Given the description of an element on the screen output the (x, y) to click on. 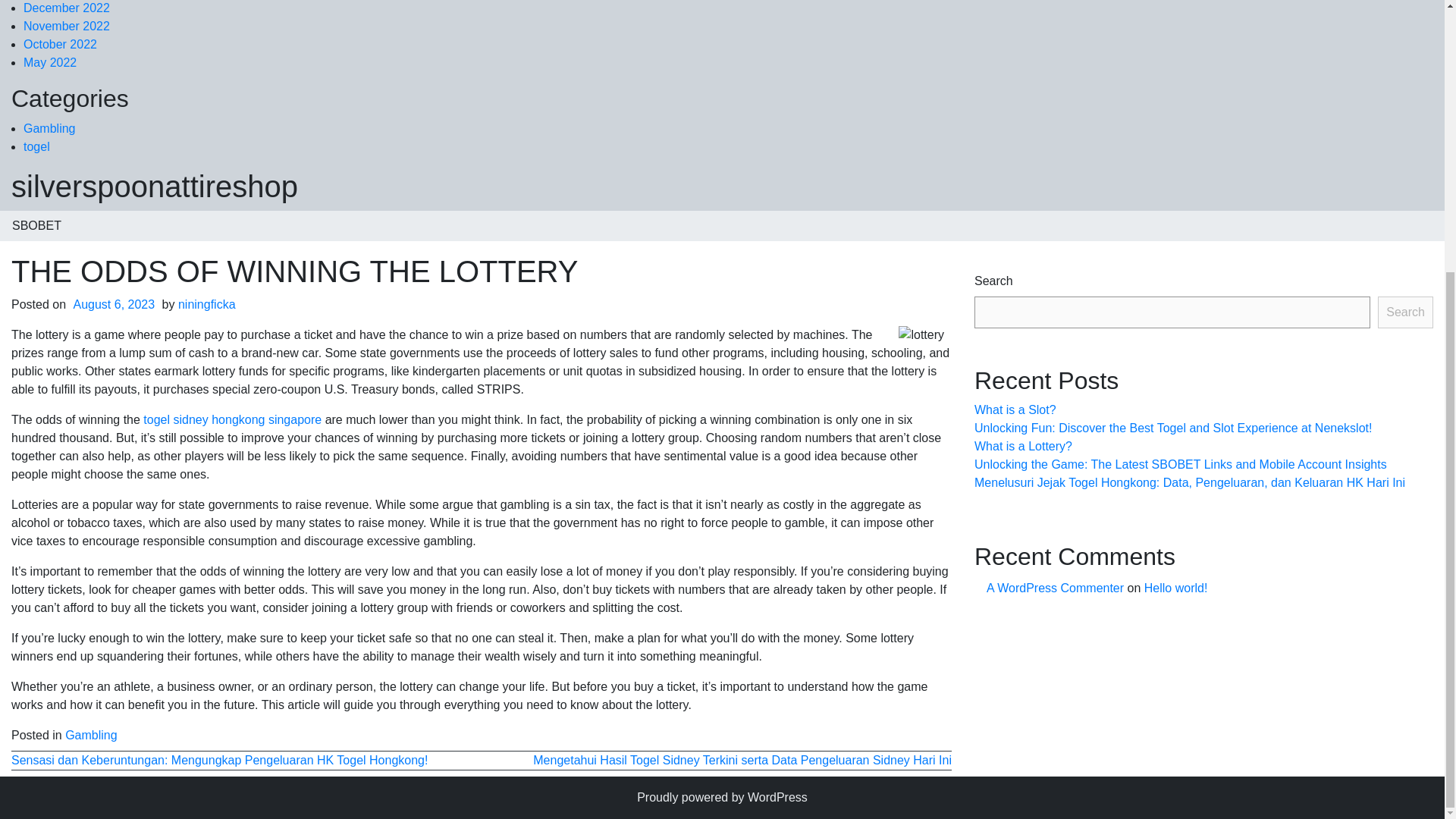
August 6, 2023 (113, 304)
May 2022 (50, 62)
togel sidney hongkong singapore (231, 419)
Gambling (90, 735)
What is a Lottery? (1022, 445)
What is a Slot? (1015, 409)
SBOBET (37, 225)
Gambling (49, 128)
